Given the description of an element on the screen output the (x, y) to click on. 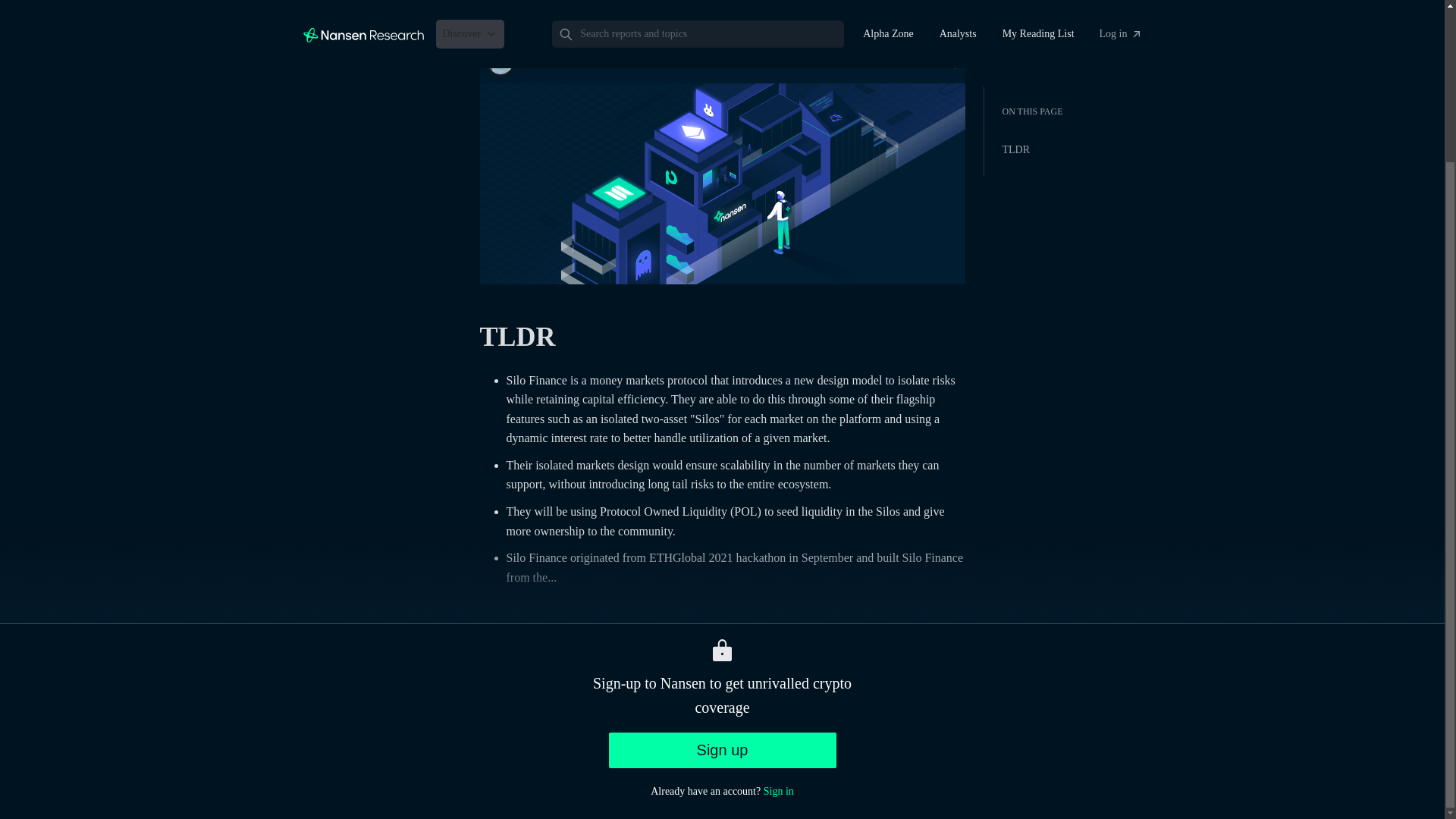
Sign up (721, 559)
Sign in (777, 600)
Jake Kennis (551, 61)
TLDR (1206, 103)
Bug Report (1363, 793)
